Given the description of an element on the screen output the (x, y) to click on. 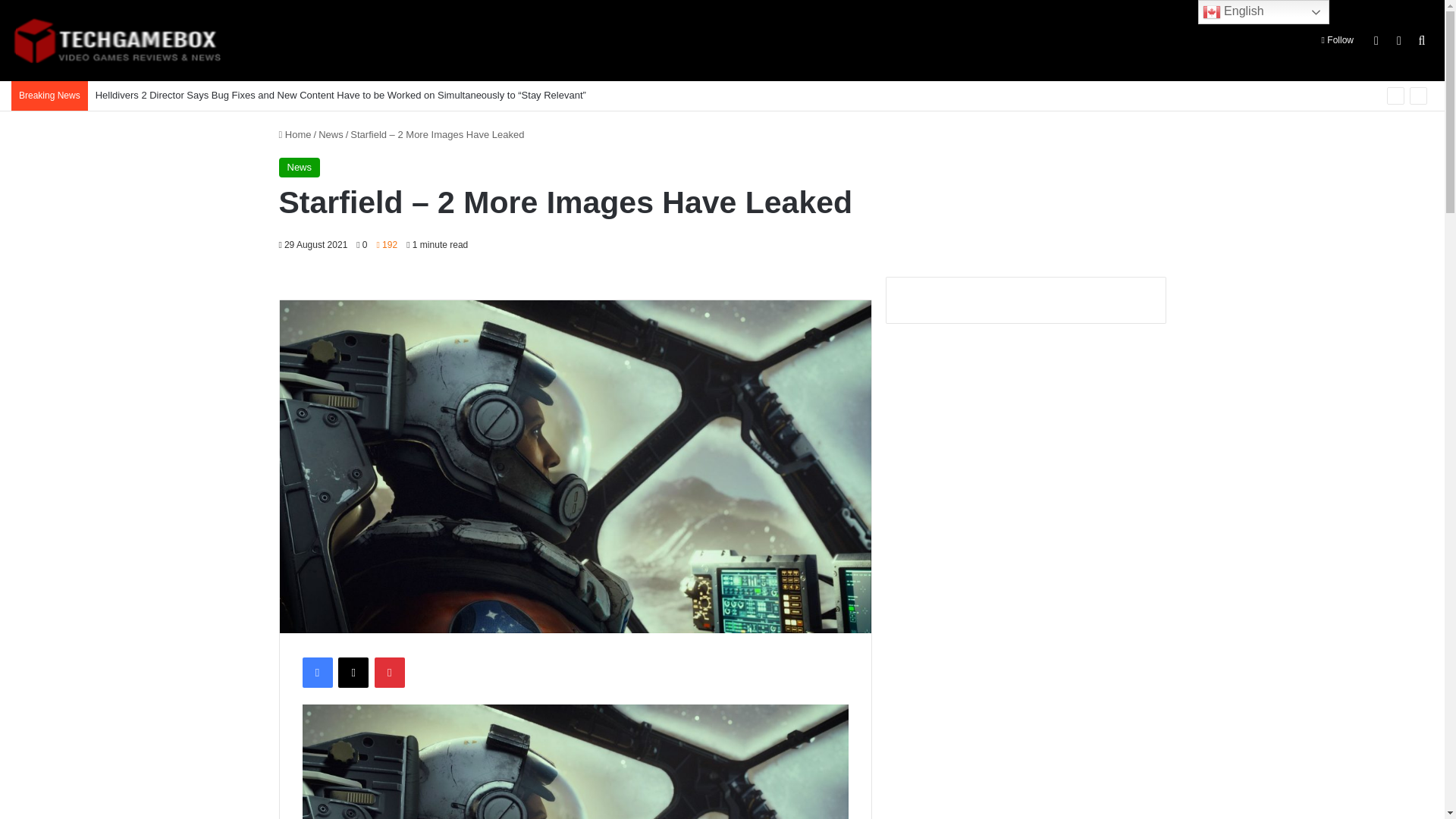
X (352, 672)
X (352, 672)
Pinterest (389, 672)
News (299, 167)
Home (295, 134)
Facebook (316, 672)
News (330, 134)
Gamers Word (116, 40)
Pinterest (389, 672)
Facebook (316, 672)
